Given the description of an element on the screen output the (x, y) to click on. 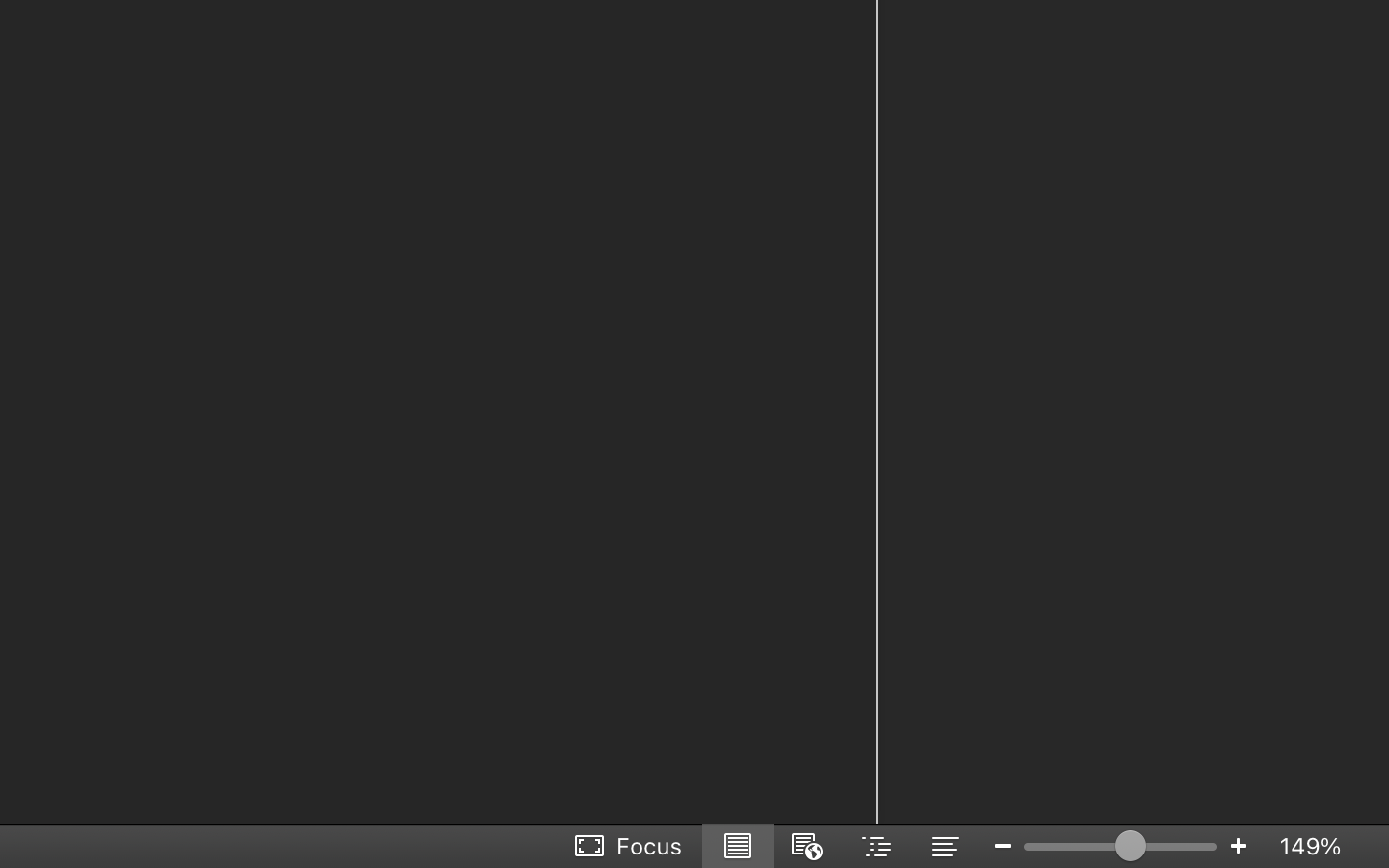
0 Element type: AXCheckBox (629, 845)
1123.0 Element type: AXSlider (1120, 845)
